Given the description of an element on the screen output the (x, y) to click on. 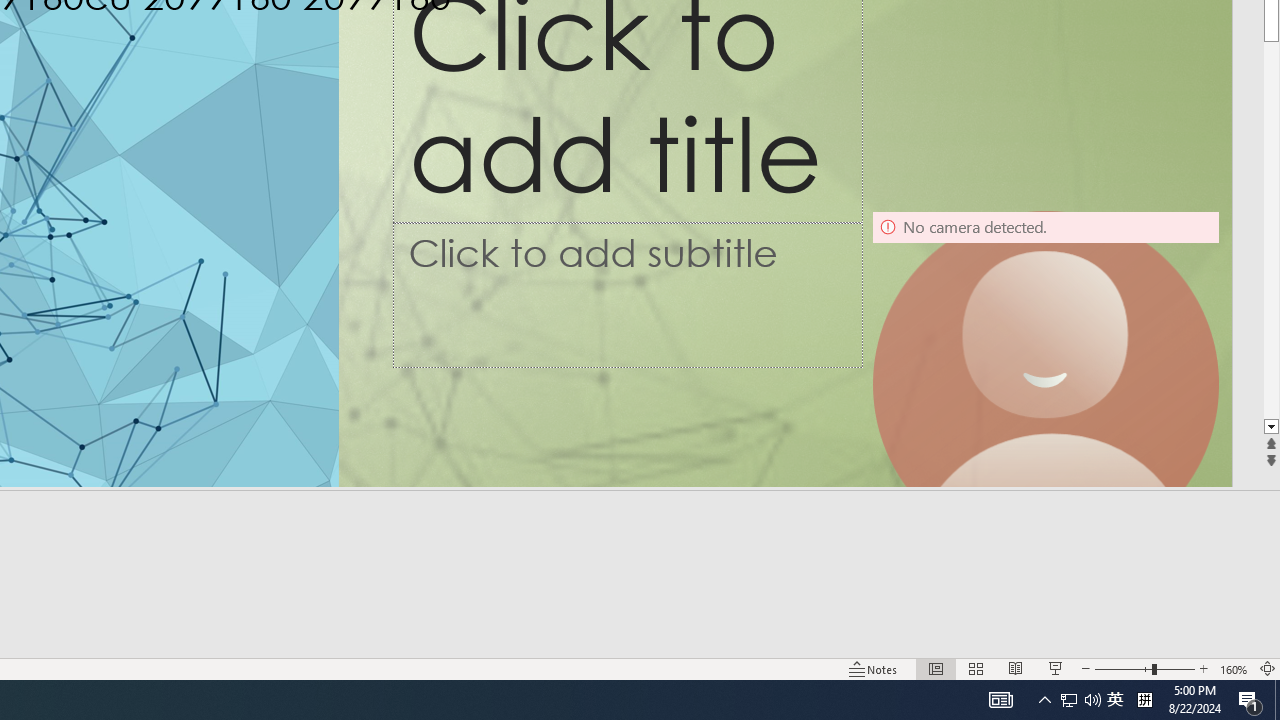
Zoom (1144, 668)
Subtitle TextBox (627, 294)
Notes  (874, 668)
Zoom to Fit  (1267, 668)
Slide Sorter (975, 668)
Zoom 160% (1234, 668)
Camera 9, No camera detected. (1045, 384)
Zoom In (1204, 668)
Normal (936, 668)
Zoom Out (1123, 668)
Reading View (1015, 668)
